Given the description of an element on the screen output the (x, y) to click on. 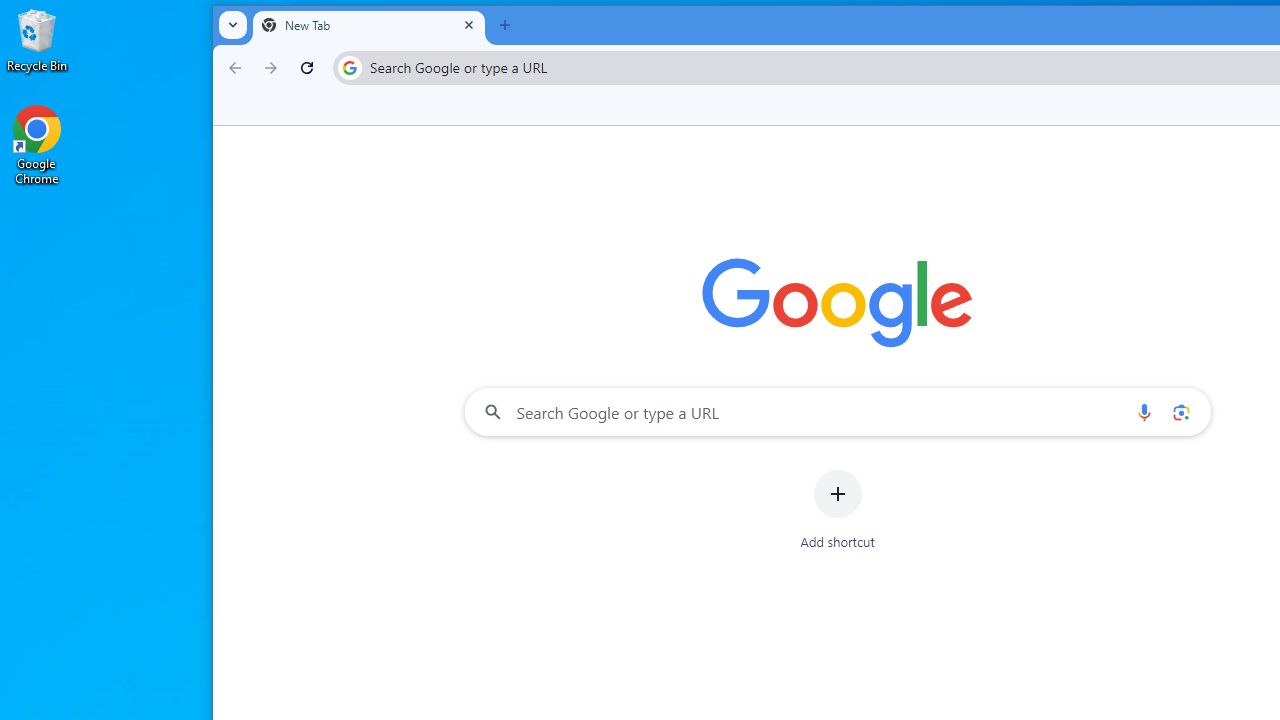
Google Chrome (37, 144)
Recycle Bin (37, 39)
